Given the description of an element on the screen output the (x, y) to click on. 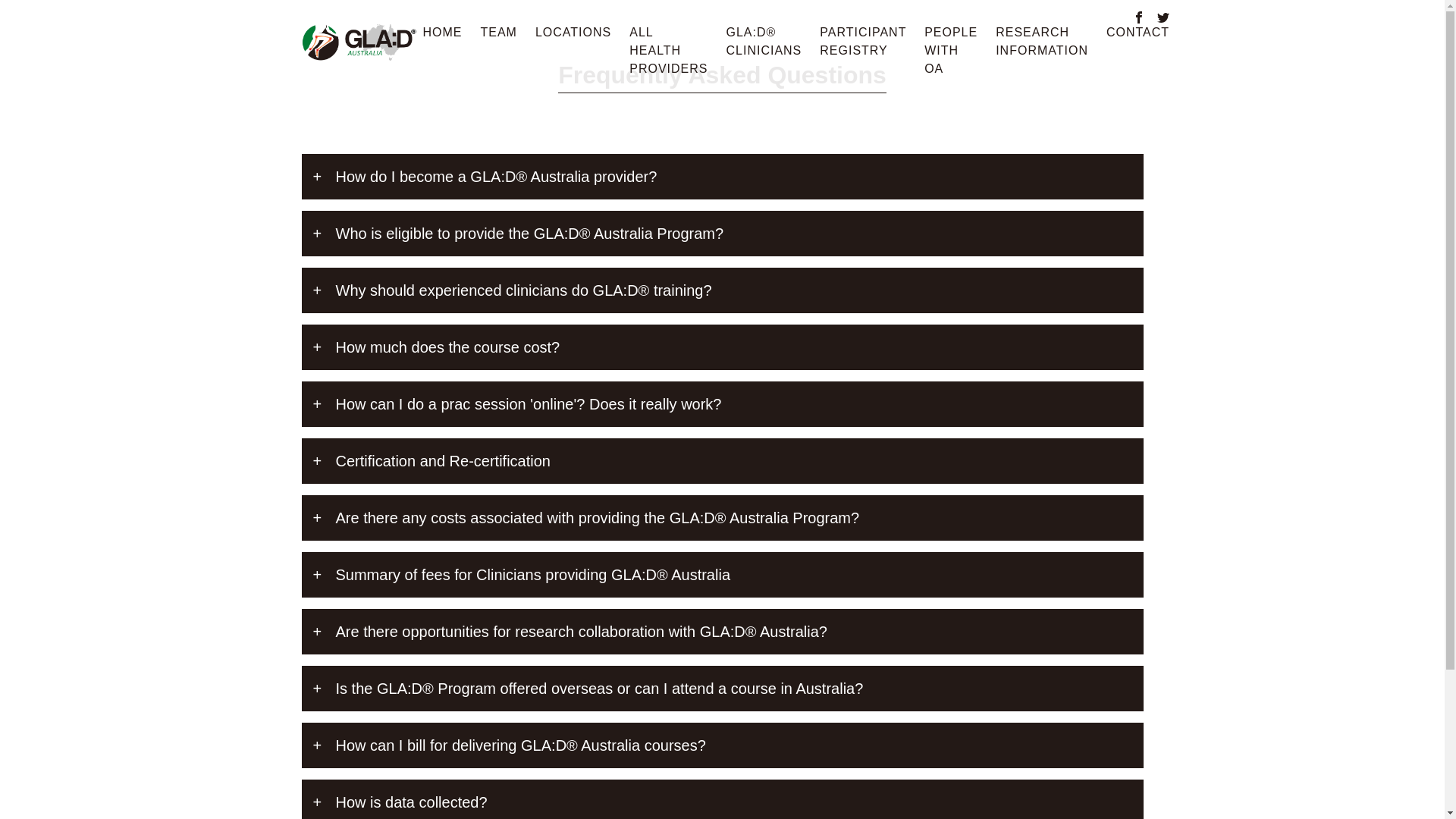
How much does the course cost?  Element type: text (722, 347)
How can I do a prac session 'online'? Does it really work? Element type: text (722, 403)
ALL HEALTH PROVIDERS Element type: text (668, 50)
HOME Element type: text (442, 32)
PEOPLE WITH OA Element type: text (950, 50)
Certification and Re-certification Element type: text (722, 460)
LOCATIONS Element type: text (573, 32)
PARTICIPANT REGISTRY Element type: text (862, 41)
RESEARCH INFORMATION Element type: text (1041, 41)
CONTACT Element type: text (1137, 32)
TEAM Element type: text (498, 32)
